Given the description of an element on the screen output the (x, y) to click on. 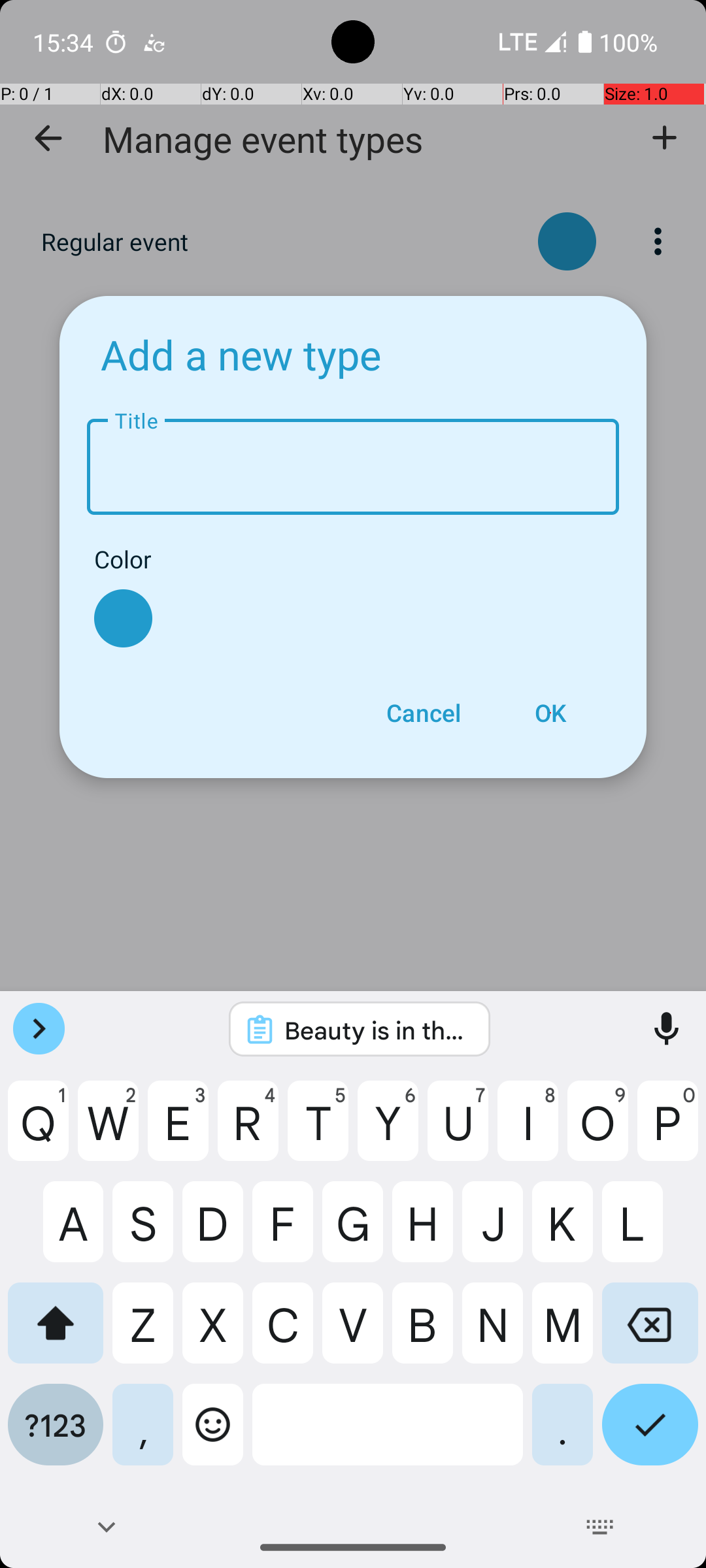
Add a new type Element type: android.widget.TextView (240, 354)
Beauty is in the eye of the beholder. Element type: android.widget.TextView (376, 1029)
